Given the description of an element on the screen output the (x, y) to click on. 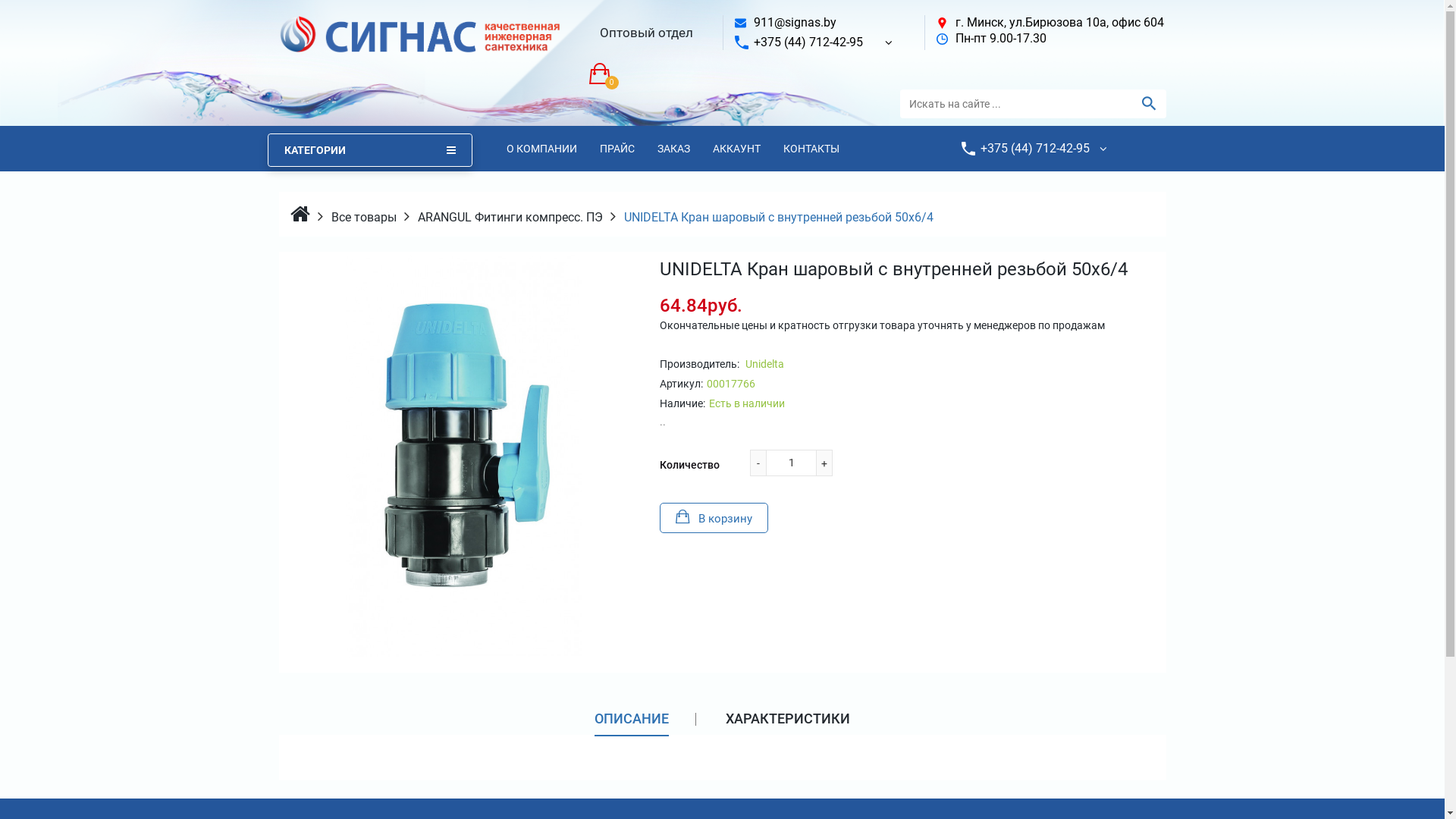
0 Element type: text (601, 73)
+375 (44) 712-42-95 Element type: text (807, 41)
911@signas.by Element type: text (794, 22)
+375 (44) 712-42-95 Element type: text (1033, 148)
Unidelta Element type: text (762, 363)
